Given the description of an element on the screen output the (x, y) to click on. 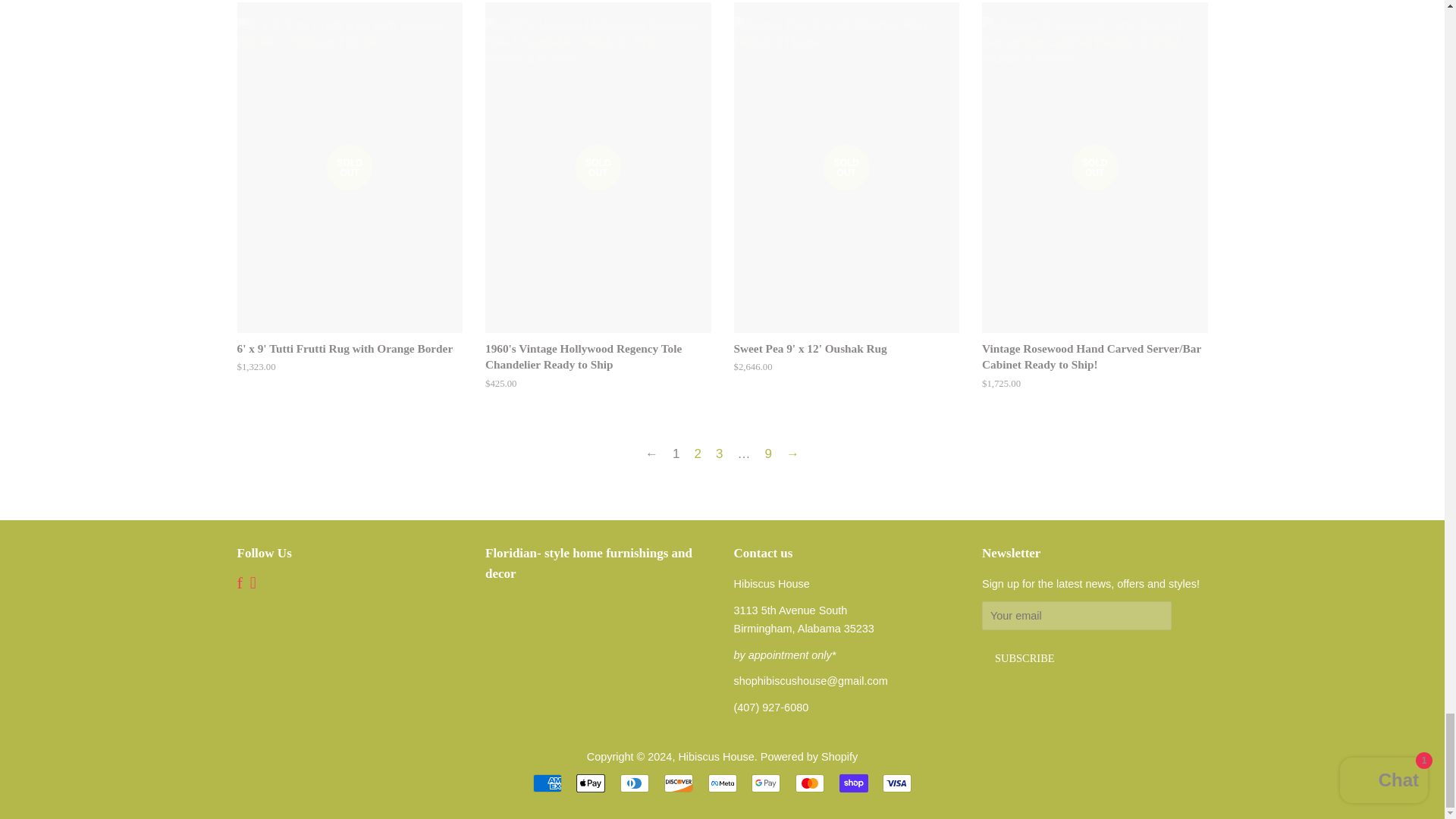
Discover (678, 782)
Diners Club (634, 782)
Subscribe (1024, 657)
Visa (896, 782)
Google Pay (765, 782)
Shop Pay (853, 782)
Apple Pay (590, 782)
Mastercard (809, 782)
American Express (547, 782)
Meta Pay (721, 782)
